Given the description of an element on the screen output the (x, y) to click on. 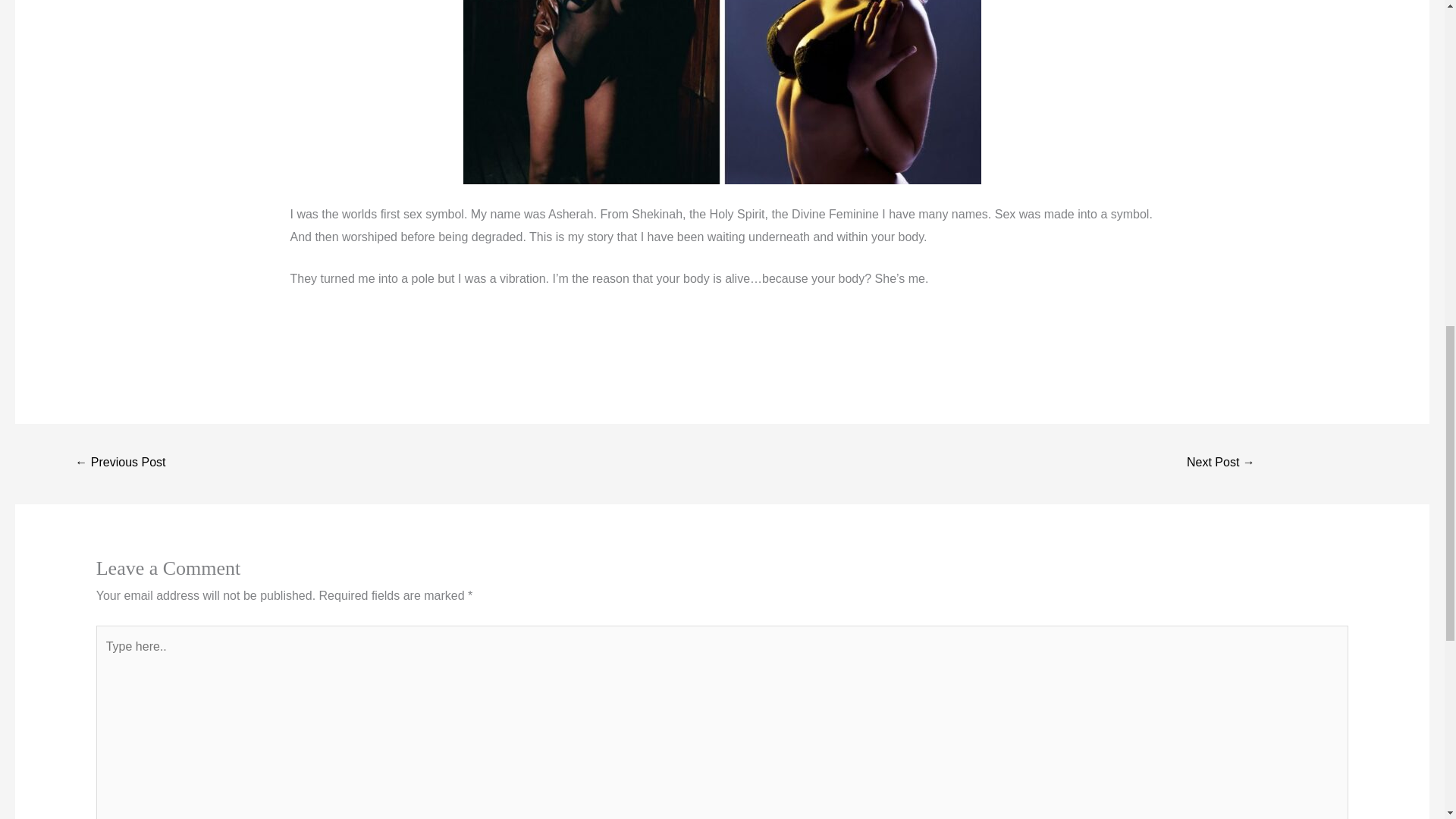
my spiritual awakening story of being eve. (1220, 463)
